Given the description of an element on the screen output the (x, y) to click on. 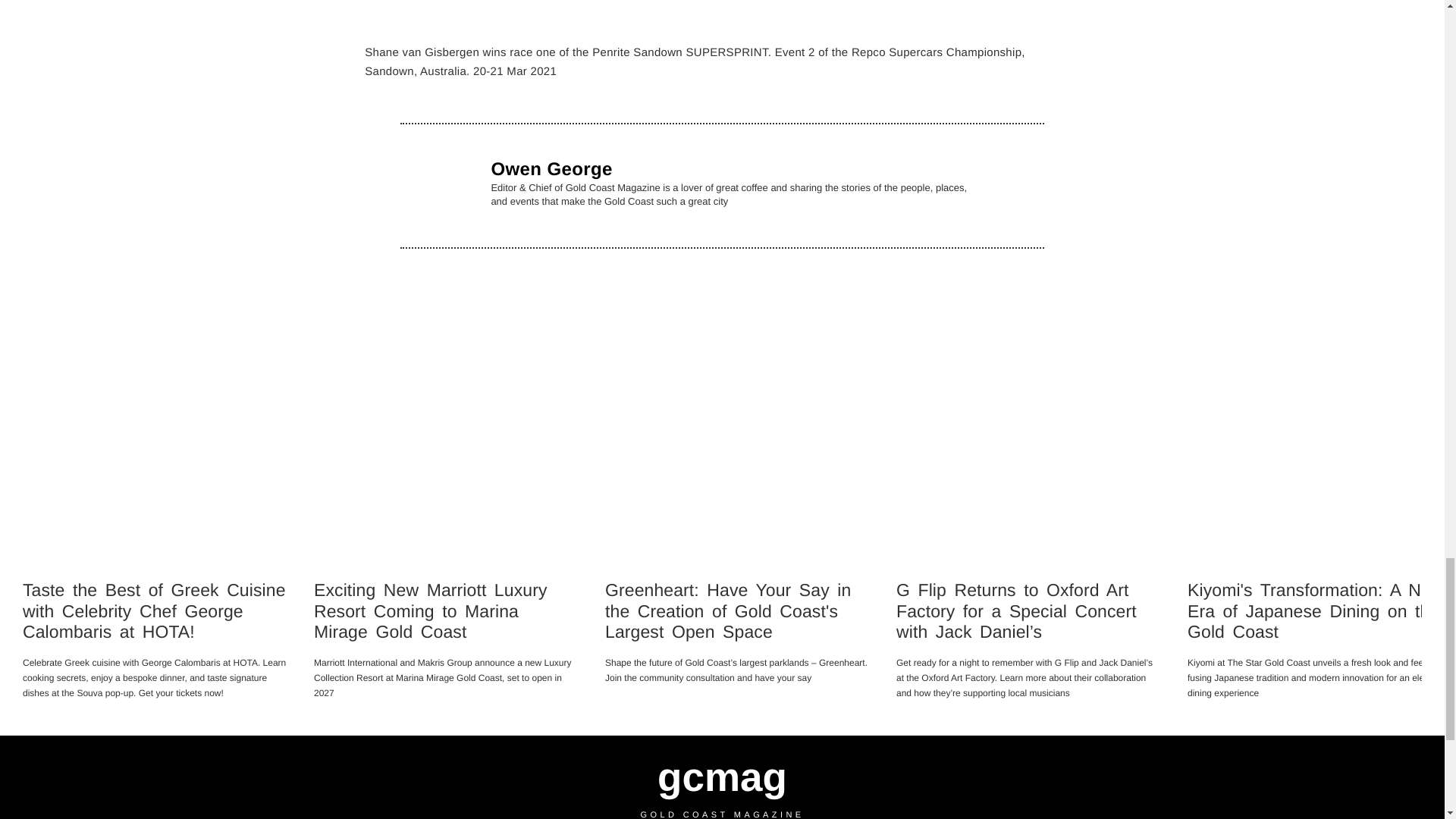
Shane van Gisbergen's fairytale Sandown victory (718, 14)
